Given the description of an element on the screen output the (x, y) to click on. 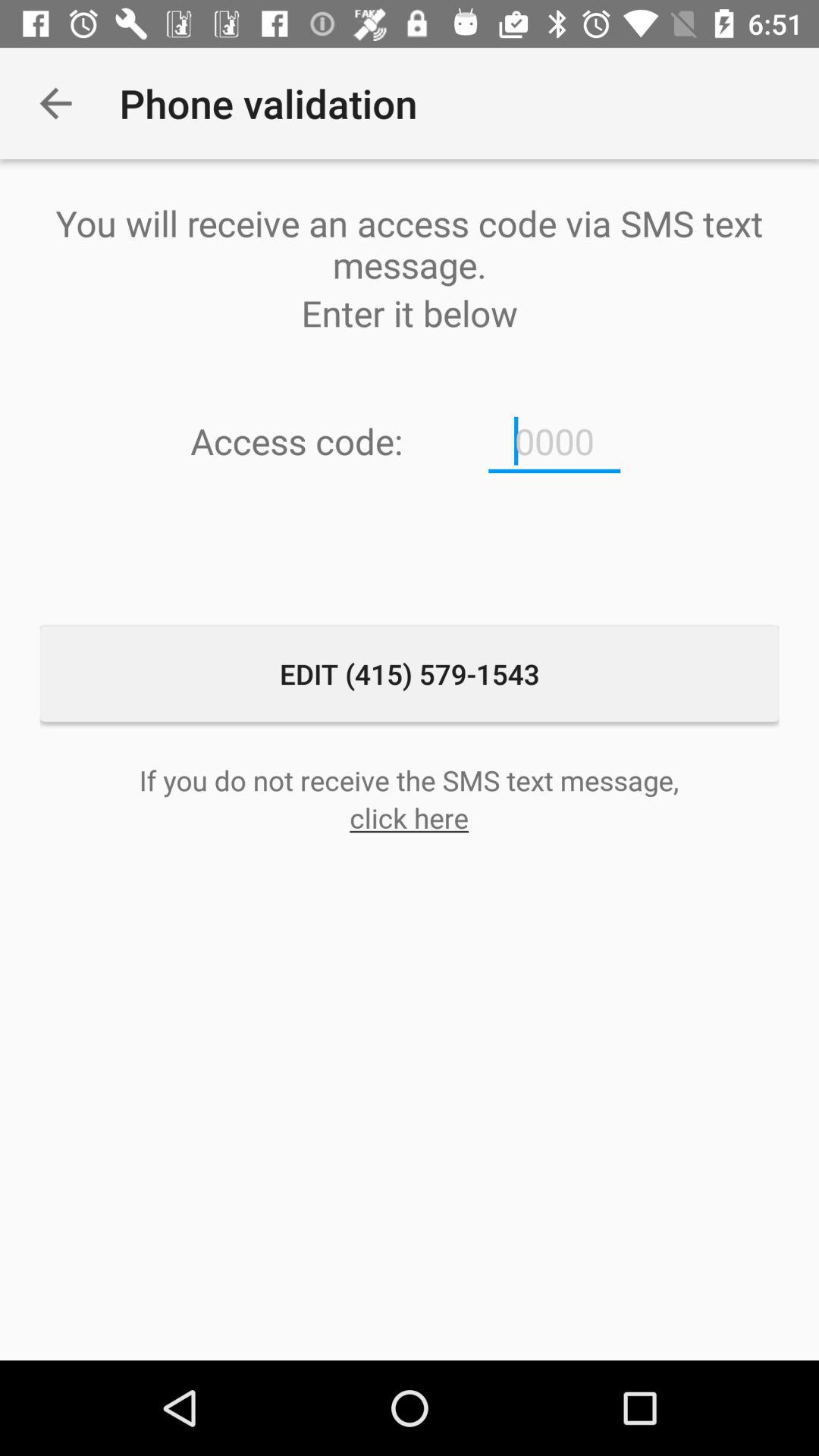
acces code bar (554, 441)
